Given the description of an element on the screen output the (x, y) to click on. 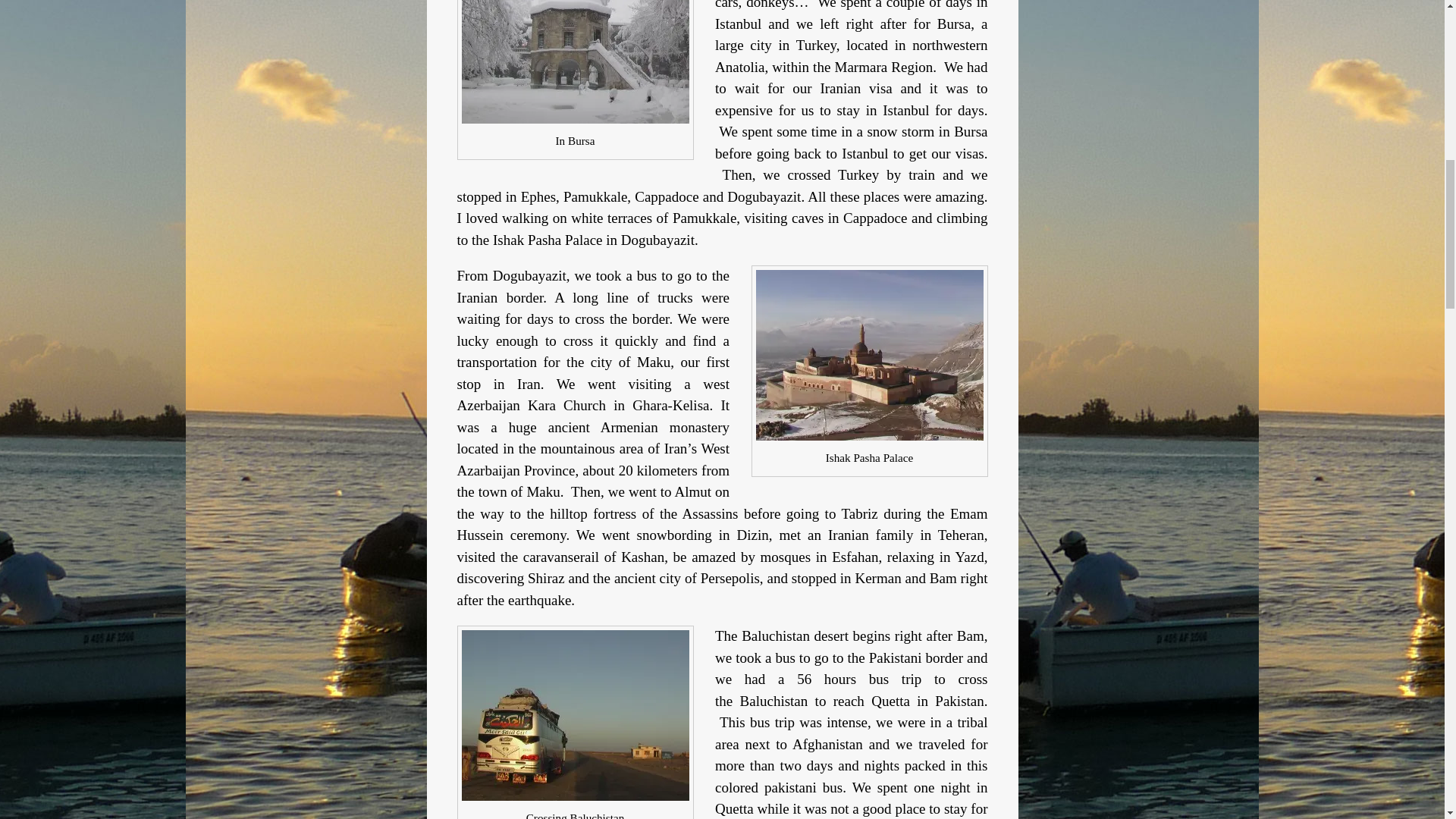
Follow (1408, 20)
Enter email address (1348, 130)
Unfollow here (1349, 195)
Sign me up! (1349, 163)
Sign me up! (1349, 163)
